Given the description of an element on the screen output the (x, y) to click on. 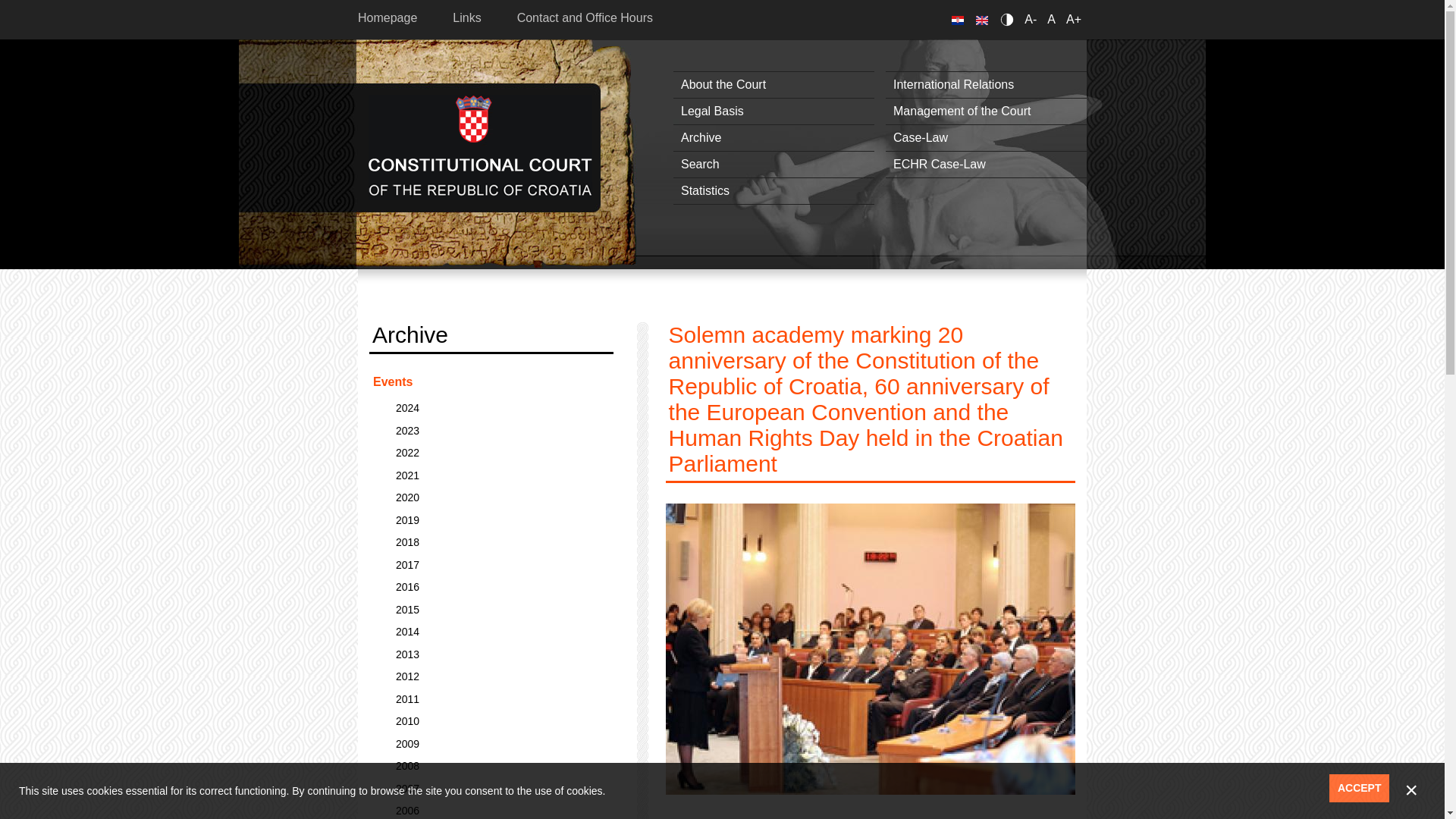
About the Court (773, 84)
2014 (490, 631)
Homepage (395, 18)
ECHR Case-Law (985, 164)
Contact and Office Hours (584, 18)
Search (773, 164)
2008 (490, 766)
2016 (490, 587)
2021 (490, 476)
